Given the description of an element on the screen output the (x, y) to click on. 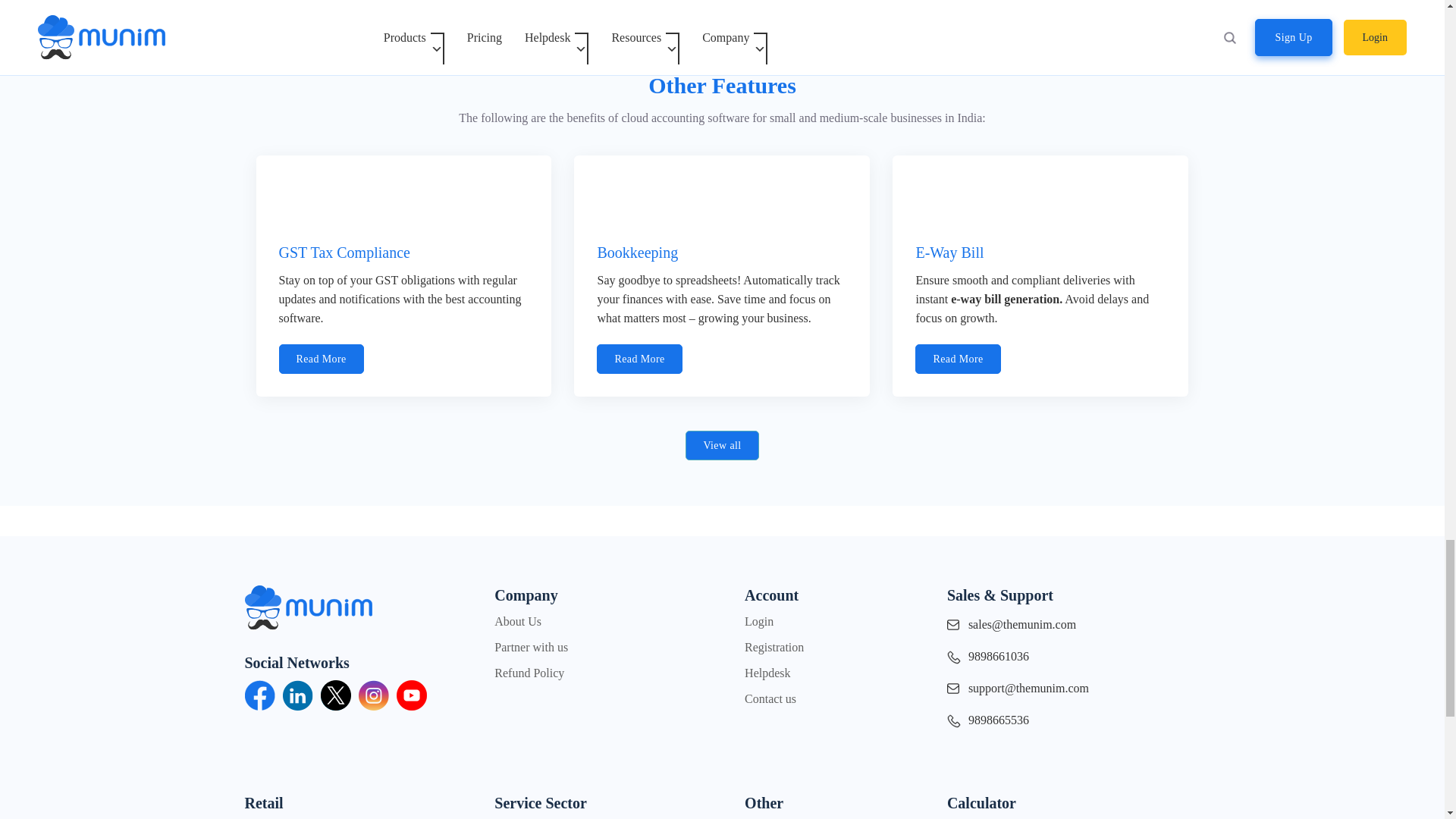
GST Tax Compliance (321, 358)
Bookkeeping (637, 252)
Themunim (307, 568)
Themunim (307, 595)
E-Way Bill (957, 358)
9898661036 (1071, 660)
E-Way Bill (949, 252)
GST Tax Compliance (344, 252)
Bookkeeping (638, 358)
